Given the description of an element on the screen output the (x, y) to click on. 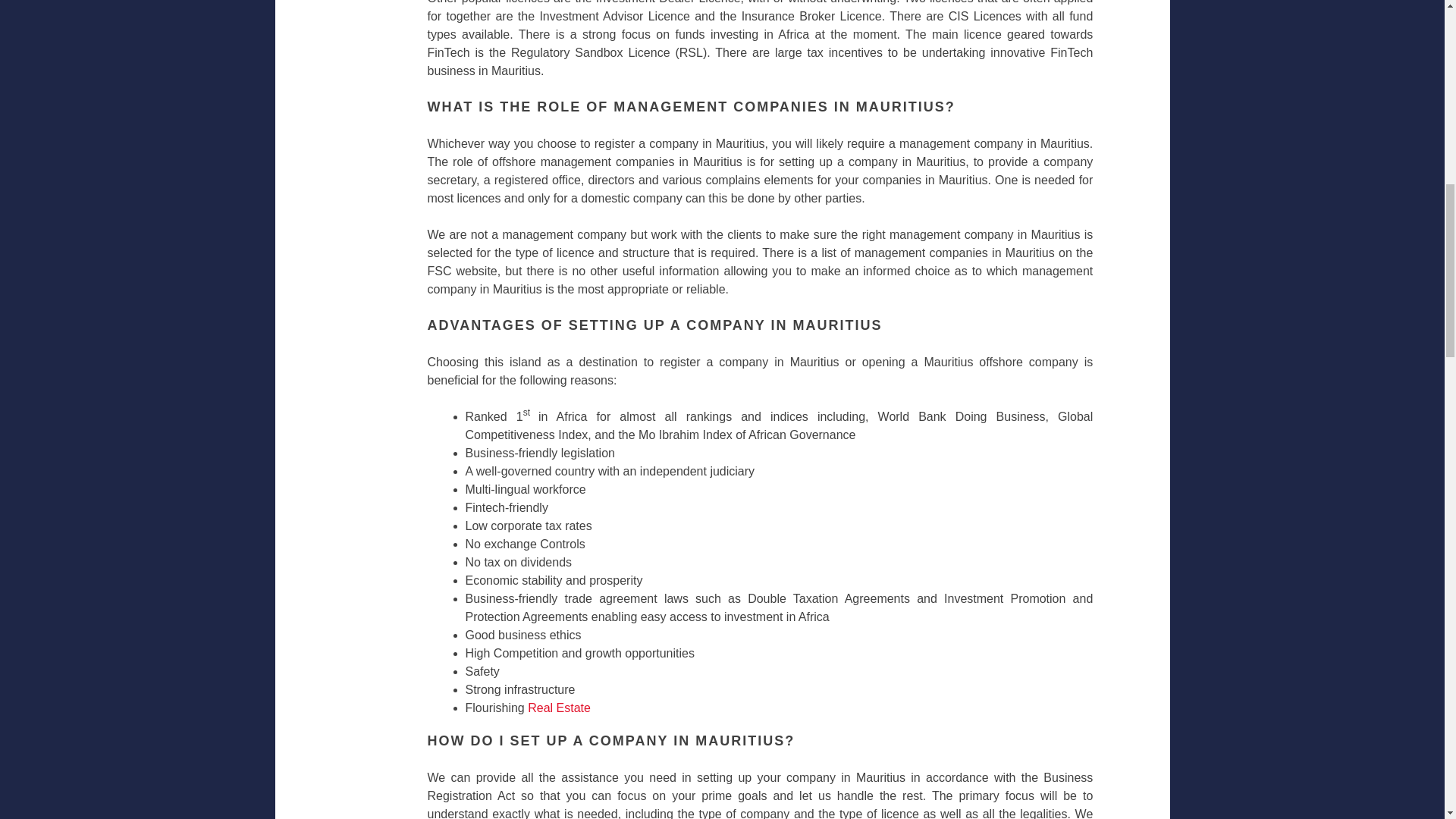
Real Estate (559, 707)
